Given the description of an element on the screen output the (x, y) to click on. 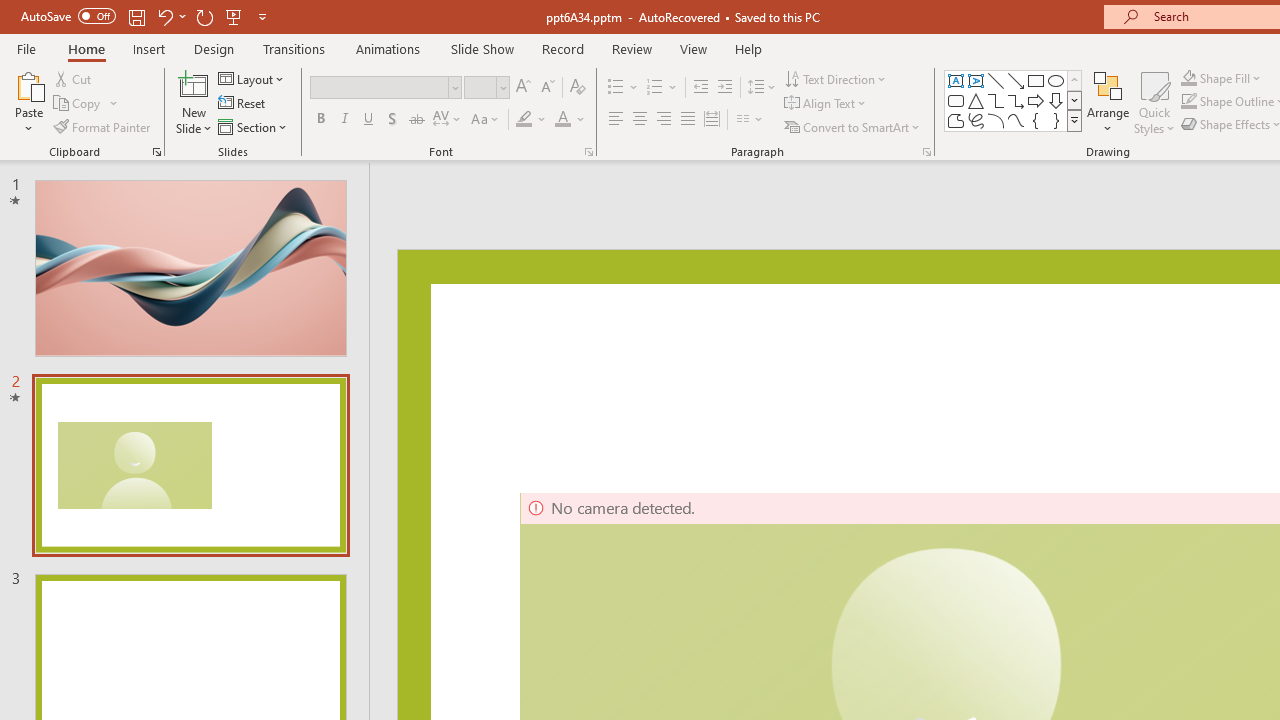
Quick Access Toolbar (145, 16)
Review (631, 48)
Line (995, 80)
Freeform: Scribble (975, 120)
Change Case (486, 119)
Line Spacing (762, 87)
Transitions (294, 48)
Italic (344, 119)
Connector: Elbow Arrow (1016, 100)
Decrease Indent (700, 87)
Vertical Text Box (975, 80)
Text Direction (836, 78)
Format Painter (103, 126)
Text Box (955, 80)
Right Brace (1055, 120)
